Given the description of an element on the screen output the (x, y) to click on. 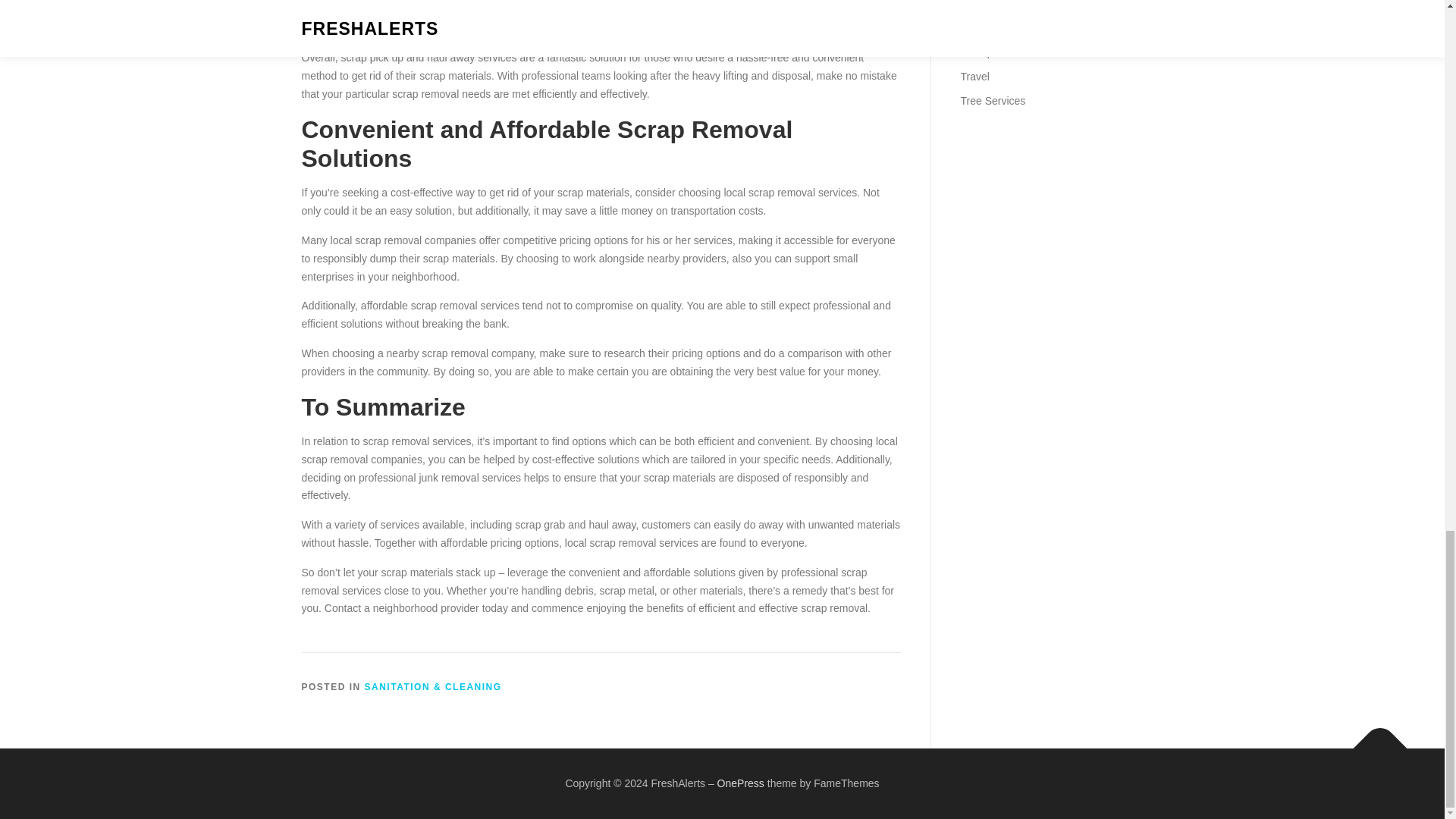
Back To Top (1372, 740)
